Given the description of an element on the screen output the (x, y) to click on. 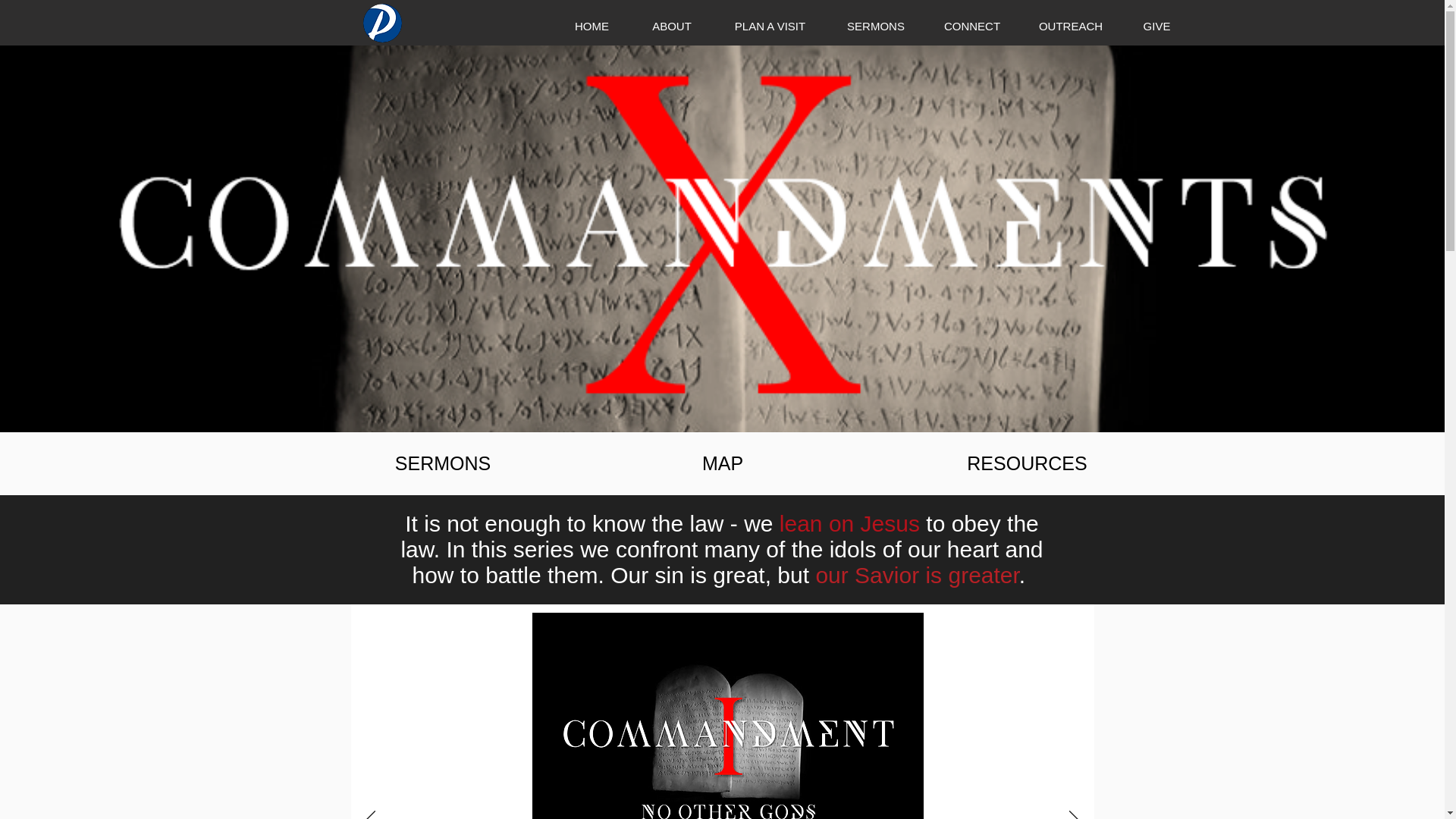
PLAN A VISIT (770, 26)
MAP (721, 463)
SERMONS (442, 463)
SERMONS (875, 26)
GIVE (1157, 26)
RESOURCES (1026, 463)
HOME (591, 26)
